Given the description of an element on the screen output the (x, y) to click on. 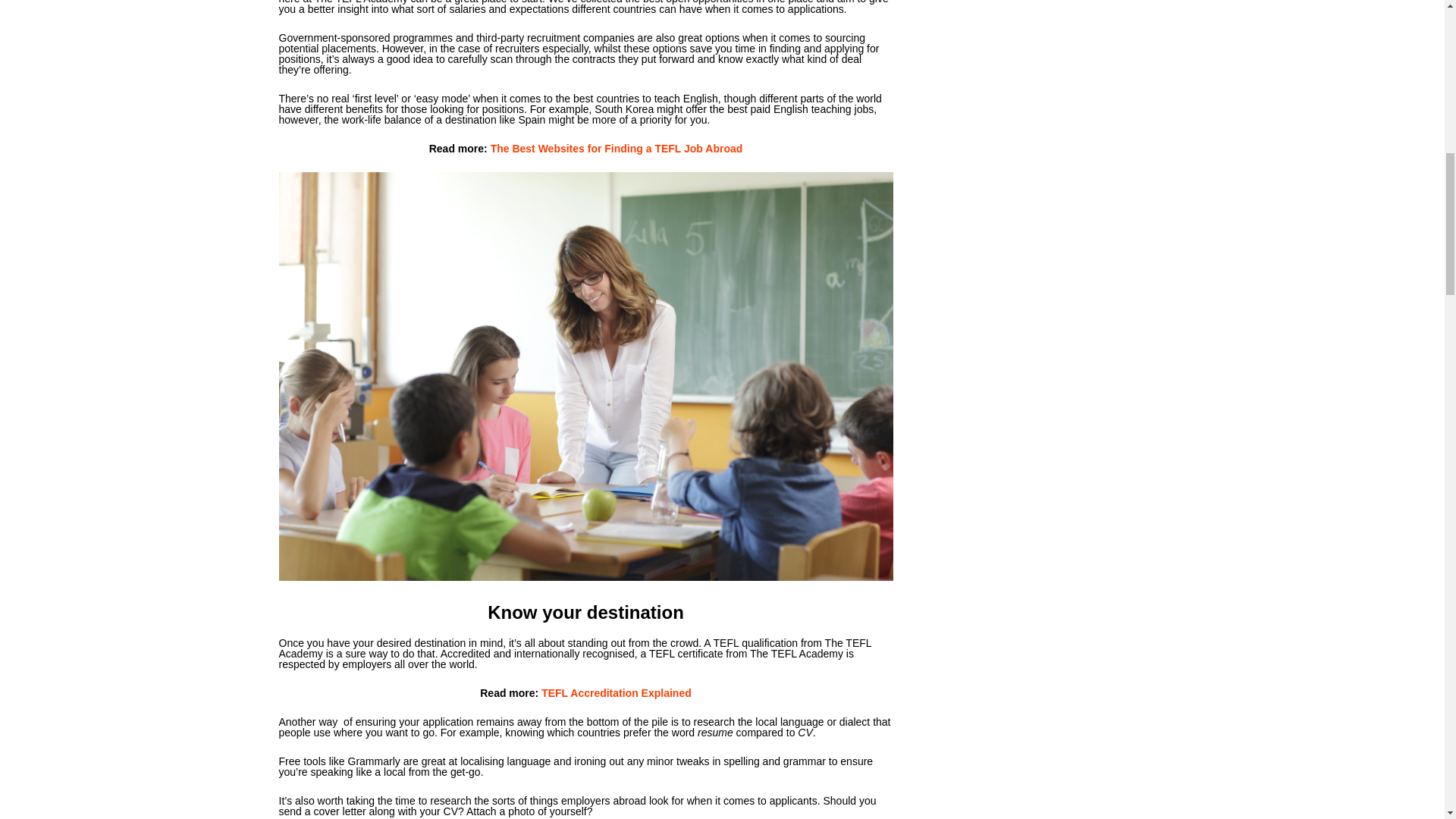
TEFL Accreditation Explained (614, 693)
The Best Websites for Finding a TEFL Job Abroad (616, 148)
